Given the description of an element on the screen output the (x, y) to click on. 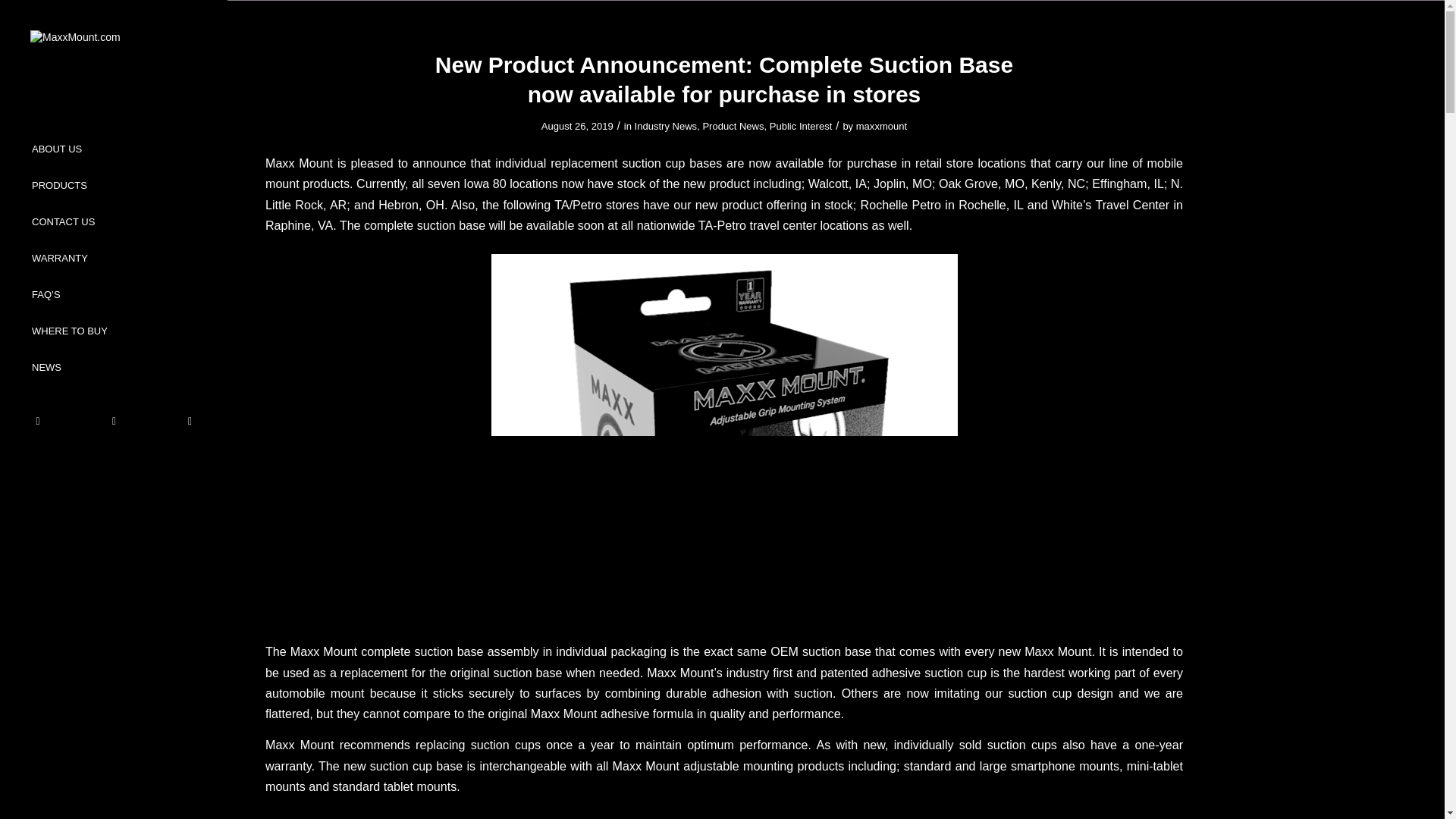
PRODUCTS (113, 186)
ABOUT US (113, 149)
MAXX logo Cropped (113, 57)
Industry News (665, 125)
X (37, 421)
WARRANTY (113, 258)
NEWS (113, 367)
Posts by maxxmount (881, 125)
Youtube (113, 421)
